Given the description of an element on the screen output the (x, y) to click on. 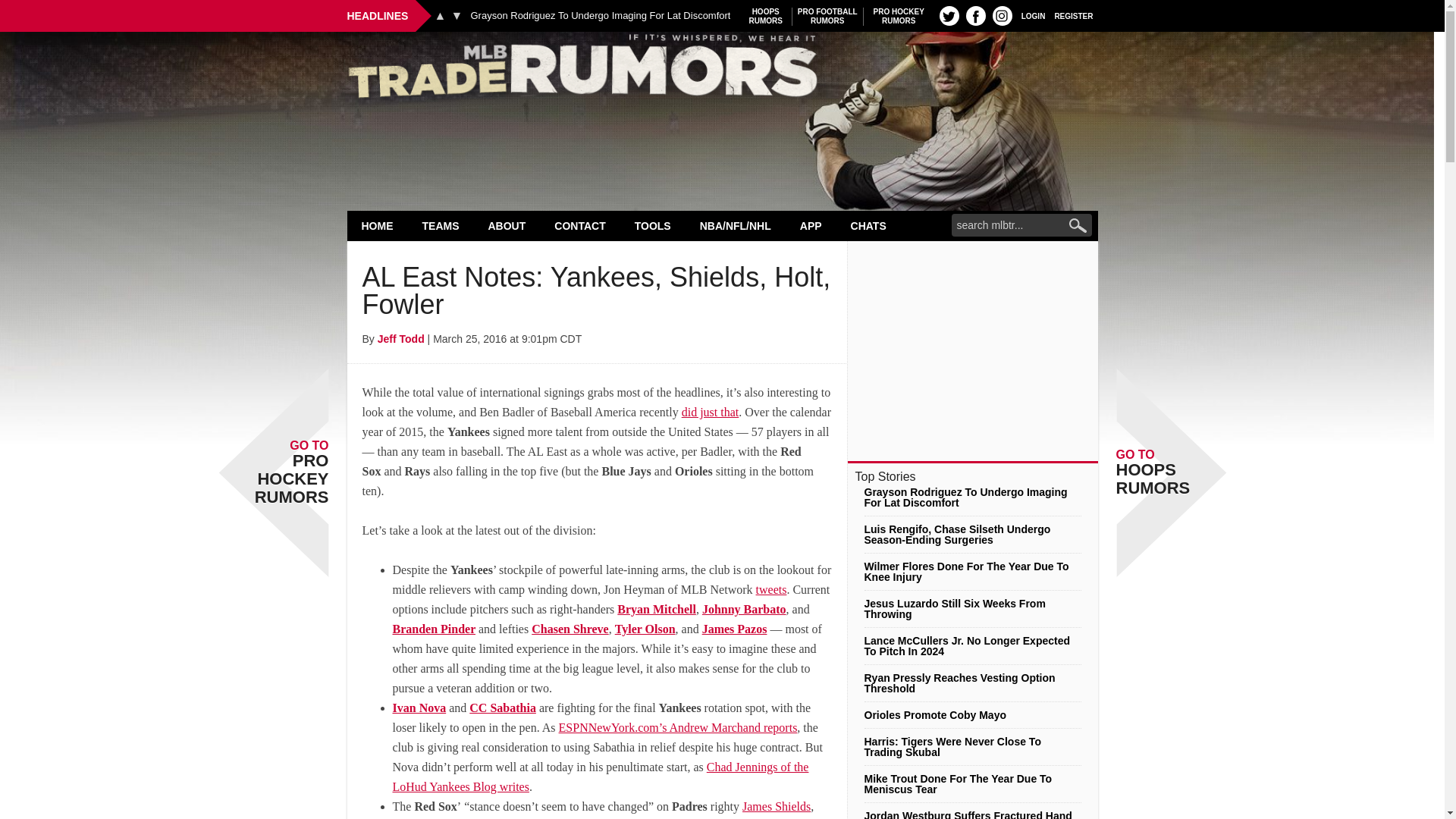
FB profile (975, 15)
TEAMS (440, 225)
MLB Trade Rumors (722, 69)
LOGIN (1032, 15)
REGISTER (1073, 15)
Grayson Rodriguez To Undergo Imaging For Lat Discomfort (600, 15)
Instagram profile (1001, 15)
Previous (439, 15)
Next (456, 15)
HOME (898, 16)
Twitter profile (765, 16)
